Given the description of an element on the screen output the (x, y) to click on. 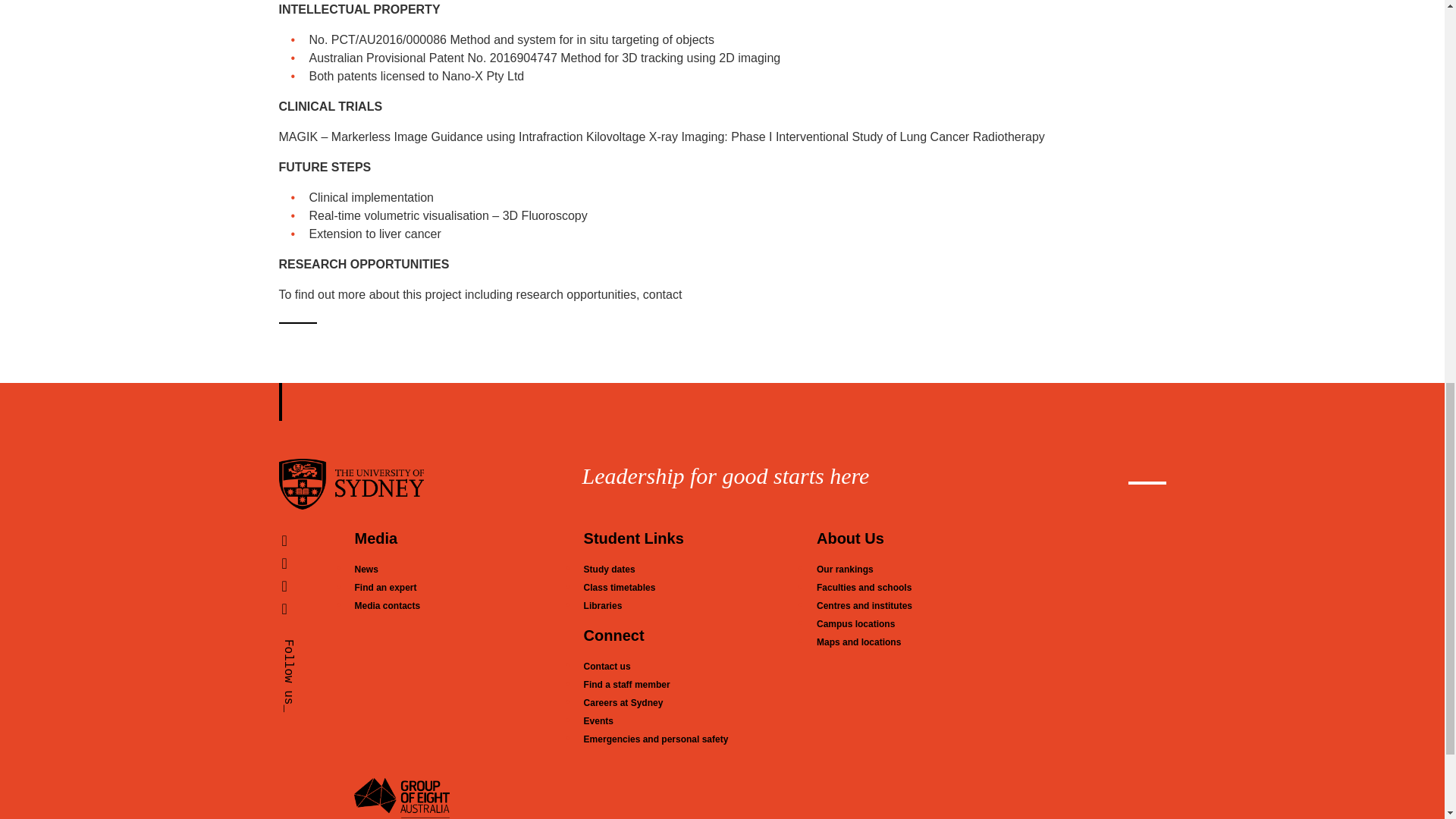
News (365, 569)
Media contacts (386, 605)
Find an expert (384, 587)
